Given the description of an element on the screen output the (x, y) to click on. 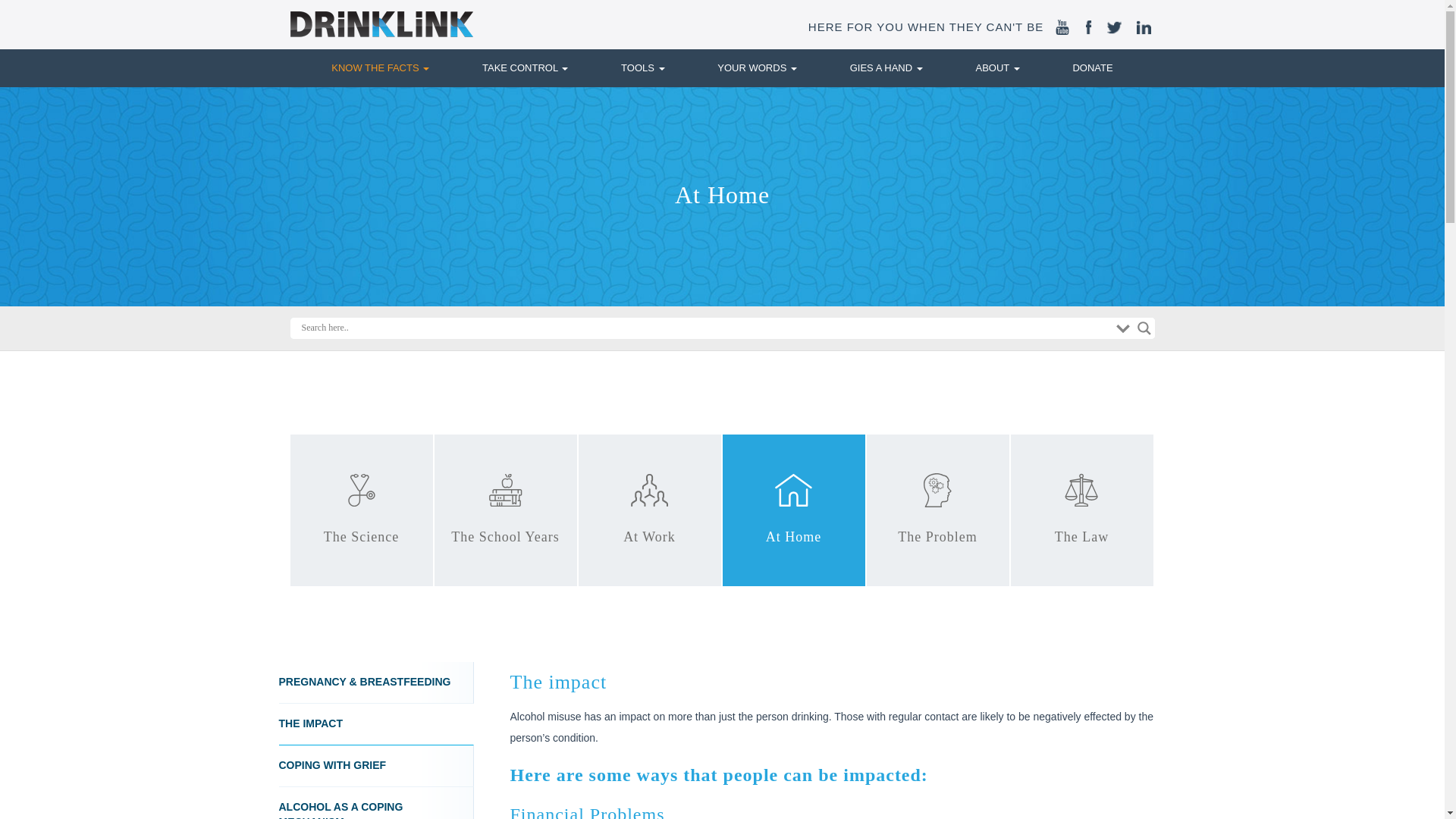
ABOUT (996, 67)
Your Words (757, 67)
Tools (642, 67)
Know the Facts (380, 67)
KNOW THE FACTS (380, 67)
DONATE (1092, 67)
TOOLS (642, 67)
Take Control (524, 67)
GIES A HAND (886, 67)
TAKE CONTROL (524, 67)
